Given the description of an element on the screen output the (x, y) to click on. 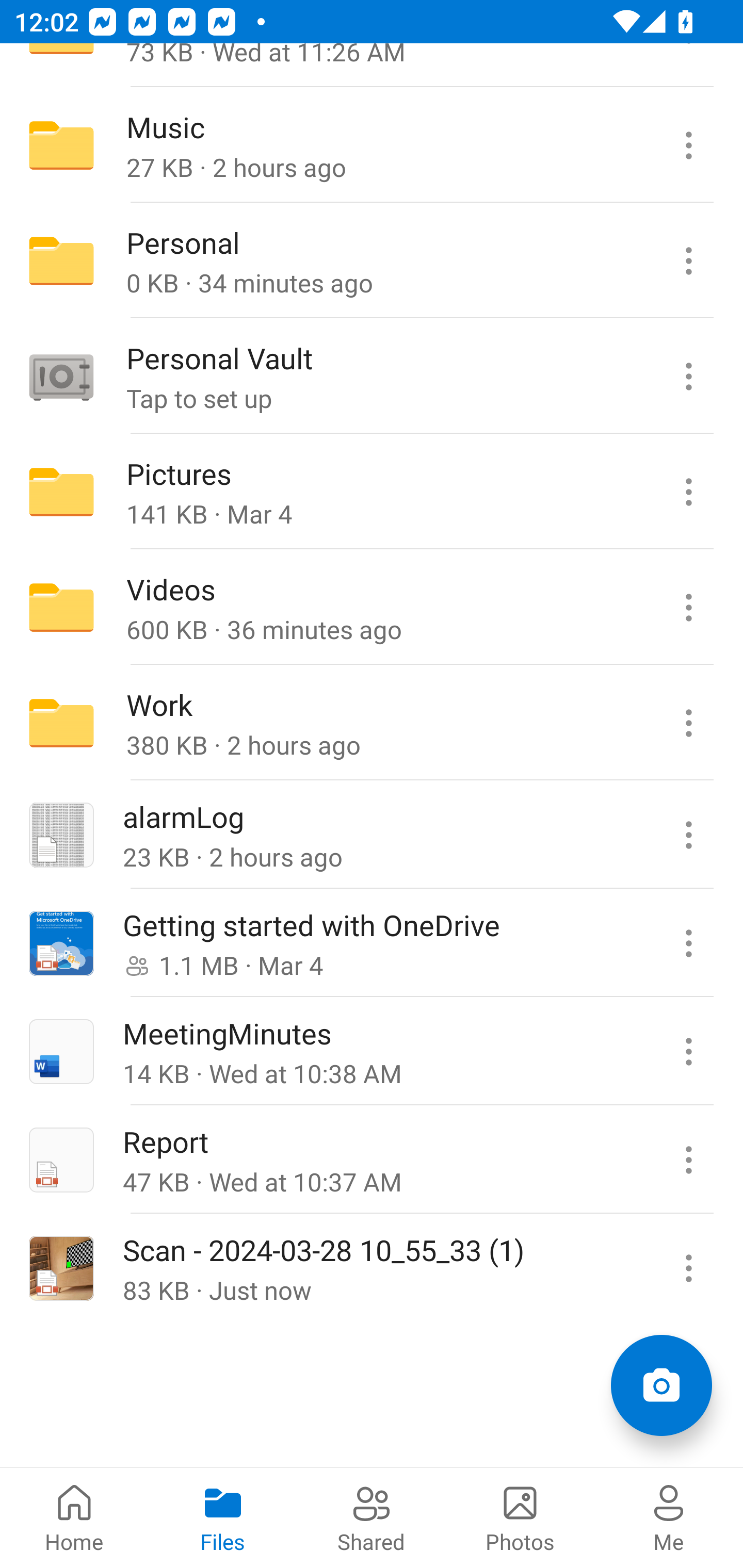
Folder Music 27 KB · 2 hours ago Music commands (371, 145)
Music commands (688, 145)
Personal commands (688, 260)
Personal Vault commands (688, 376)
Folder Pictures 141 KB · Mar 4 Pictures commands (371, 492)
Pictures commands (688, 492)
Videos commands (688, 607)
Folder Work 380 KB · 2 hours ago Work commands (371, 722)
Work commands (688, 722)
alarmLog commands (688, 834)
Getting started with OneDrive commands (688, 943)
MeetingMinutes commands (688, 1051)
Report commands (688, 1159)
Scan - 2024-03-28 10_55_33 (1) commands (688, 1267)
Add items Scan (660, 1385)
Home pivot Home (74, 1517)
Shared pivot Shared (371, 1517)
Photos pivot Photos (519, 1517)
Me pivot Me (668, 1517)
